Given the description of an element on the screen output the (x, y) to click on. 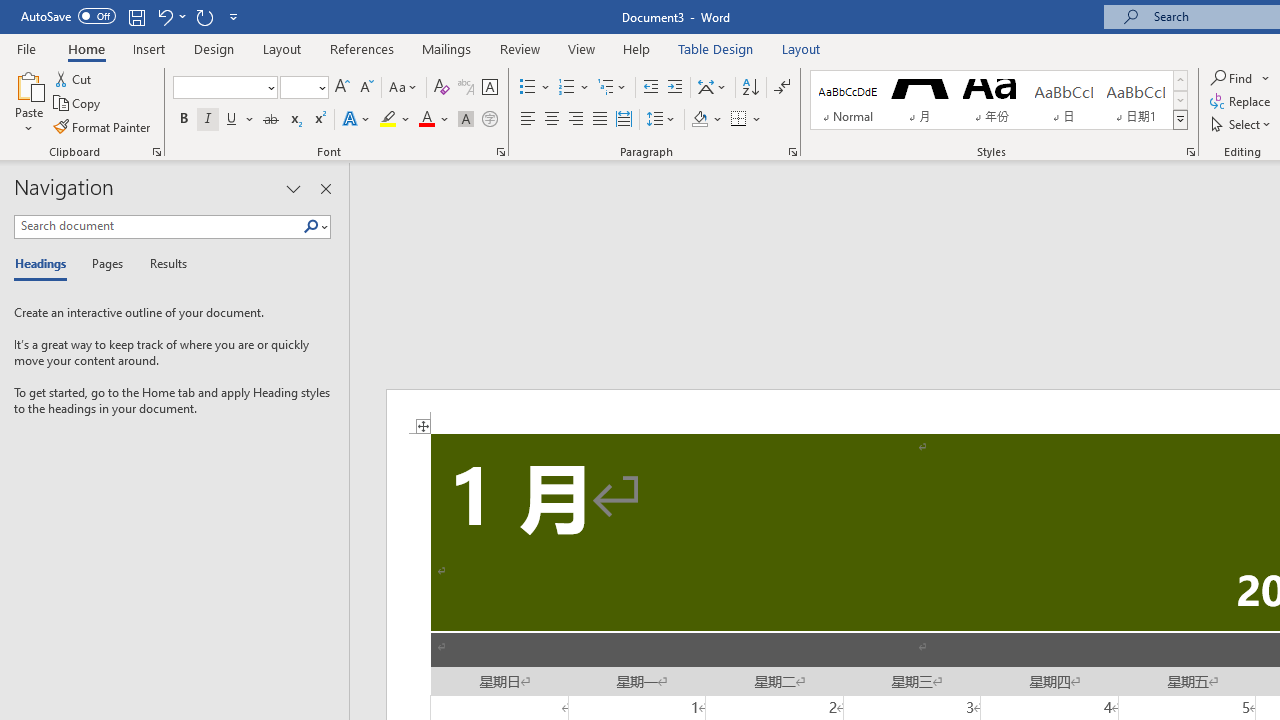
Character Shading (465, 119)
Search document (157, 226)
Asian Layout (712, 87)
Results (161, 264)
Justify (599, 119)
Styles (1179, 120)
Show/Hide Editing Marks (781, 87)
Paragraph... (792, 151)
Shading (706, 119)
Align Right (575, 119)
Phonetic Guide... (465, 87)
Line and Paragraph Spacing (661, 119)
